Given the description of an element on the screen output the (x, y) to click on. 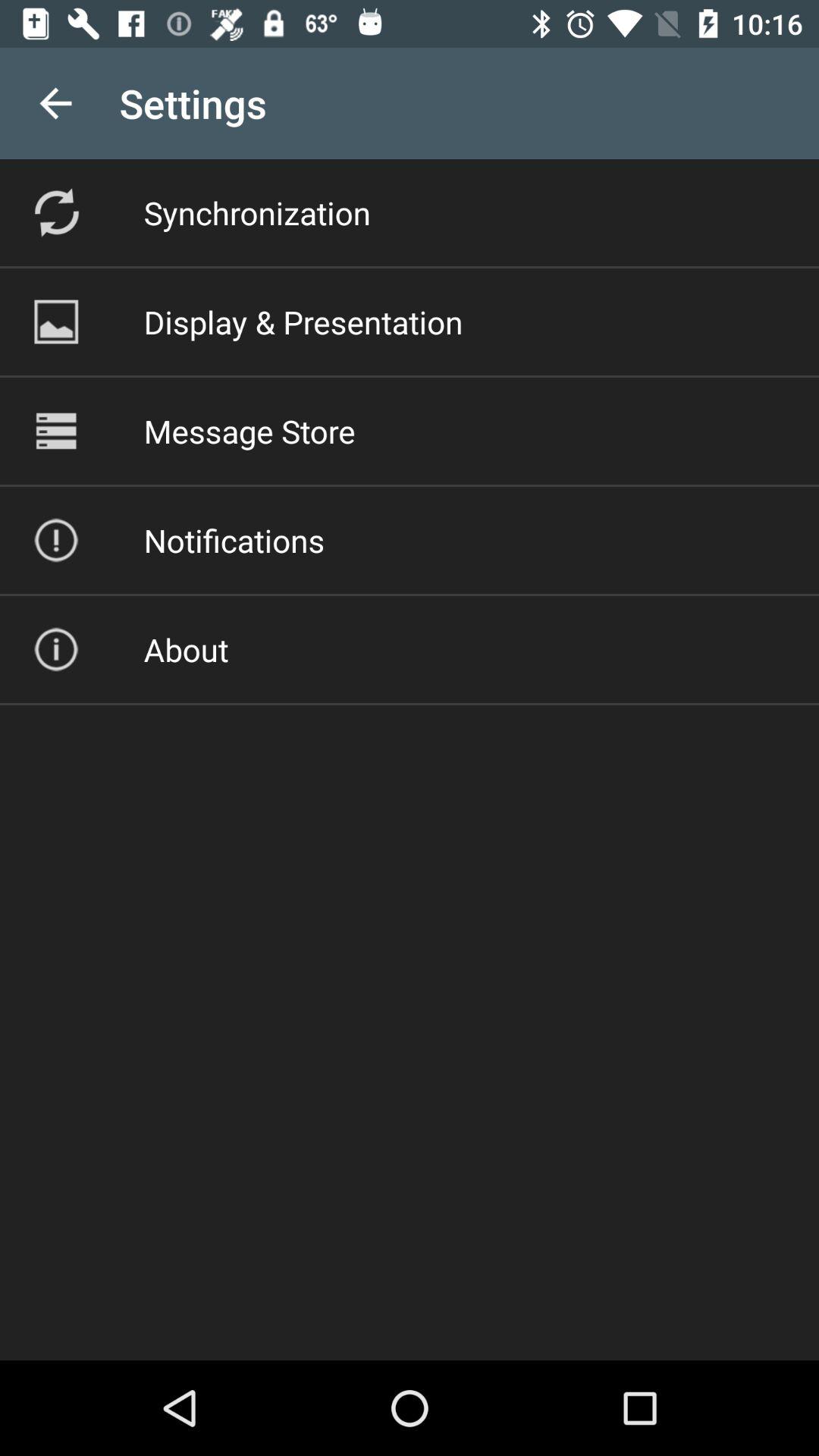
choose item above the about icon (233, 539)
